Given the description of an element on the screen output the (x, y) to click on. 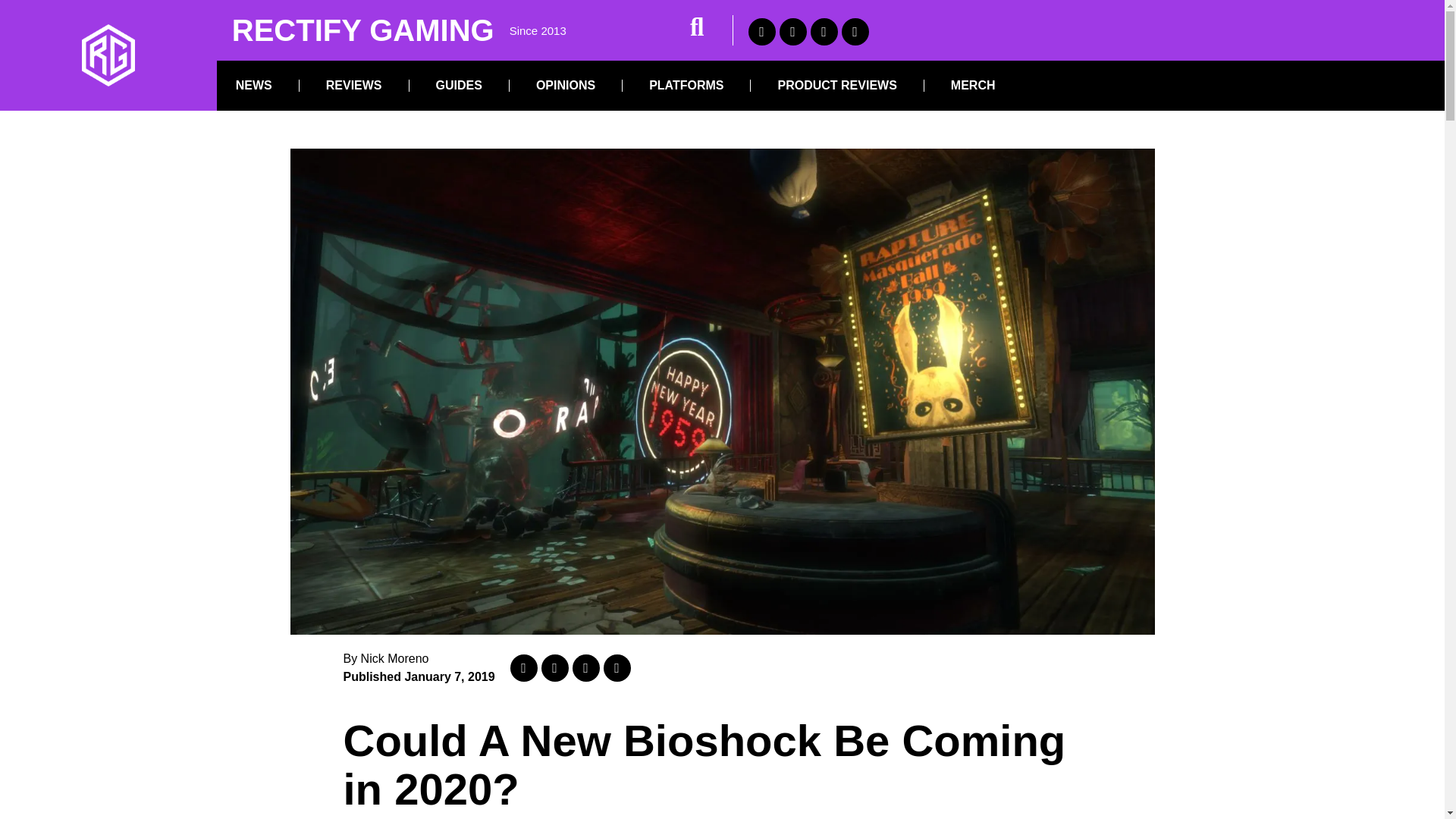
PLATFORMS (685, 85)
NEWS (253, 85)
MERCH (973, 85)
GUIDES (458, 85)
REVIEWS (354, 85)
RECTIFY GAMING (363, 29)
PRODUCT REVIEWS (836, 85)
OPINIONS (565, 85)
